Given the description of an element on the screen output the (x, y) to click on. 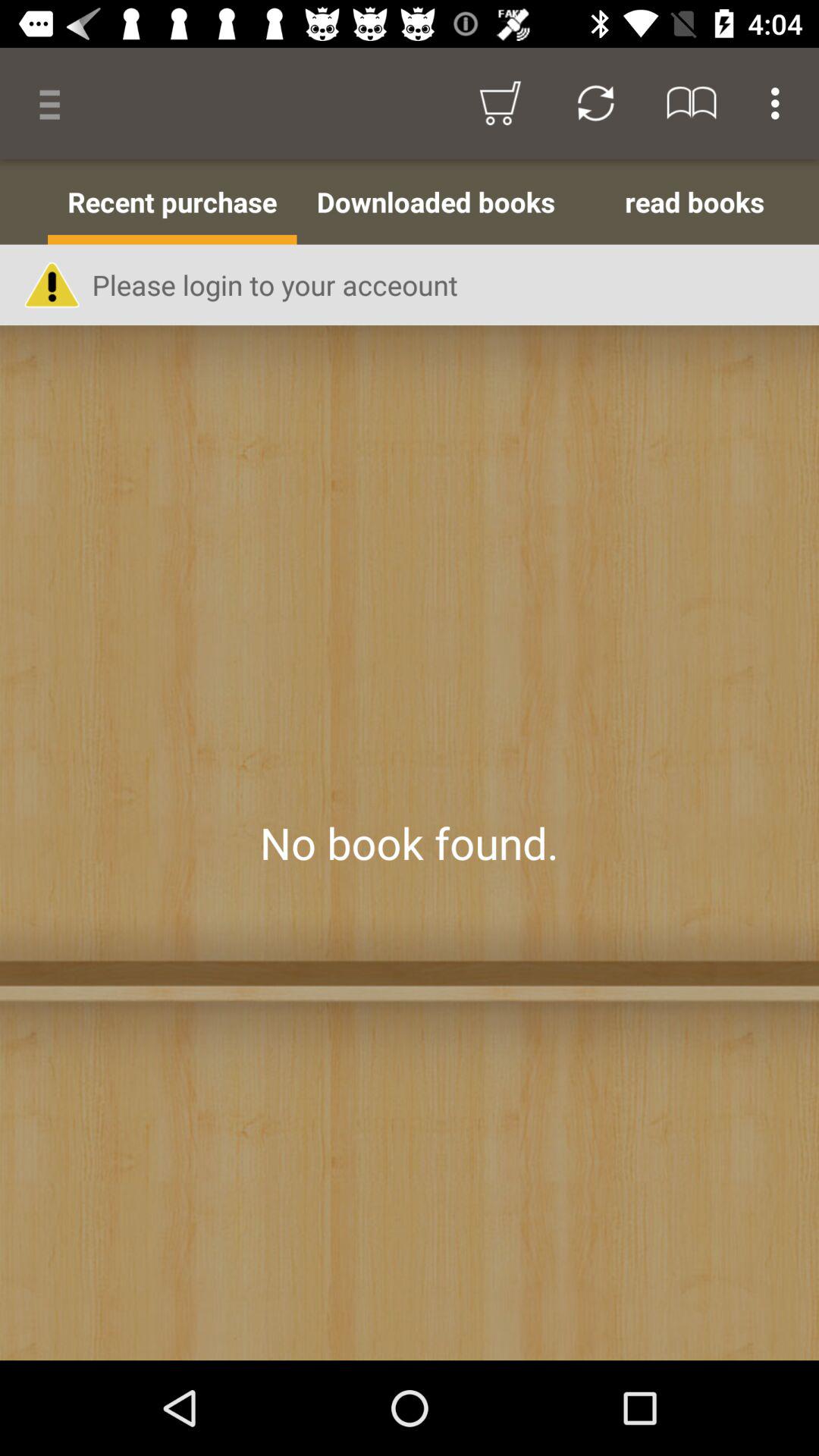
launch the icon above the please login to (435, 201)
